Given the description of an element on the screen output the (x, y) to click on. 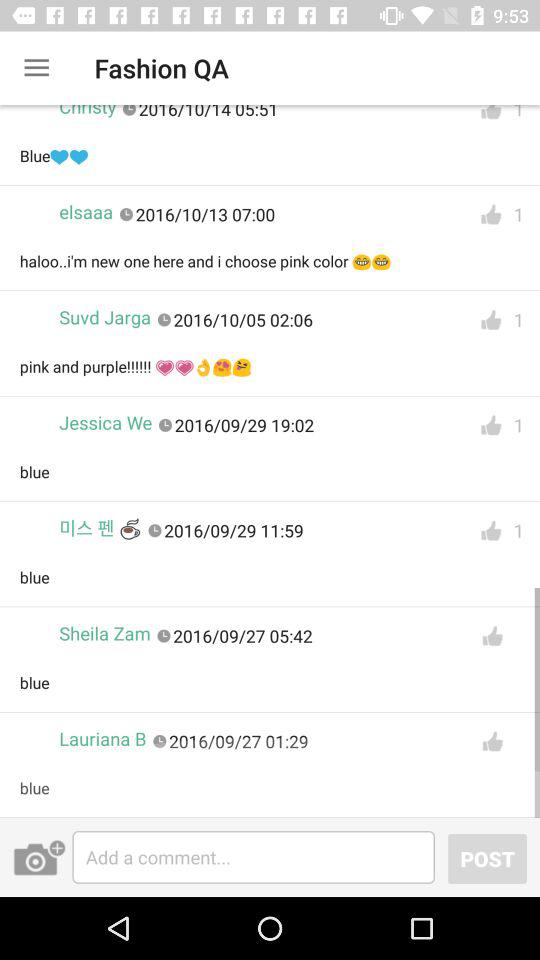
like the post (491, 530)
